Given the description of an element on the screen output the (x, y) to click on. 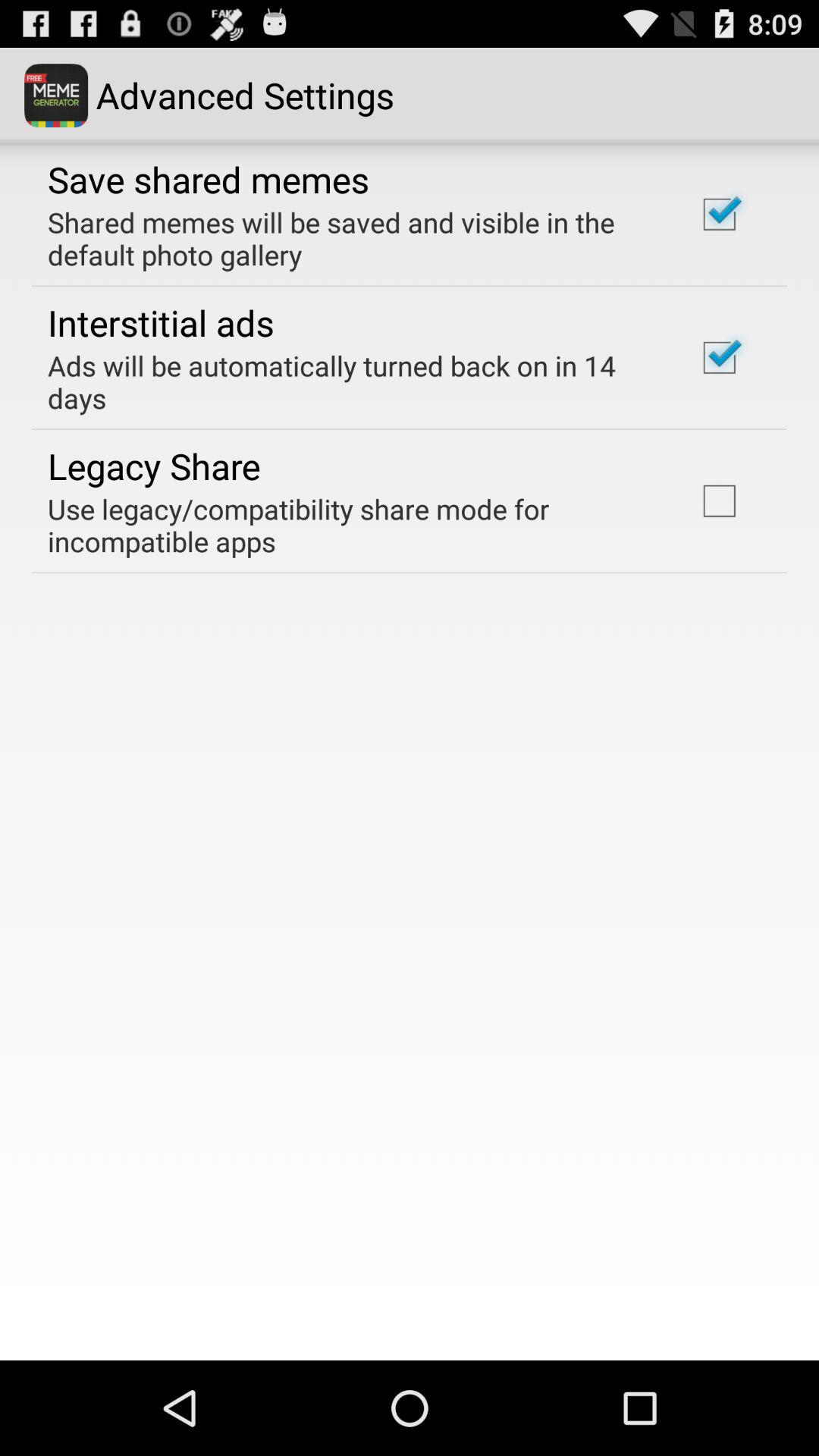
jump to the interstitial ads (160, 322)
